Given the description of an element on the screen output the (x, y) to click on. 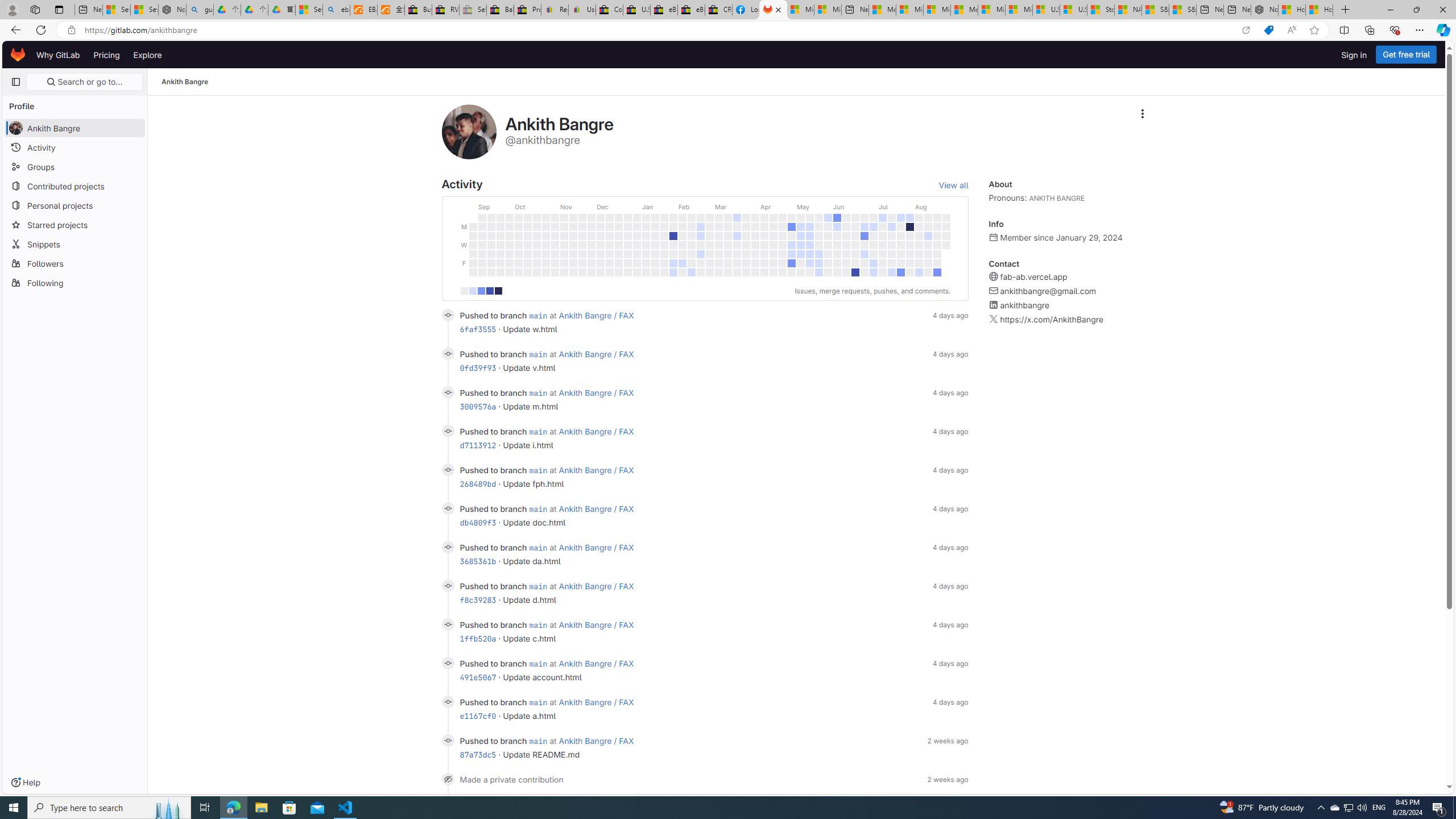
Personal Profile (12, 9)
Back (13, 29)
Browser essentials (1394, 29)
